Given the description of an element on the screen output the (x, y) to click on. 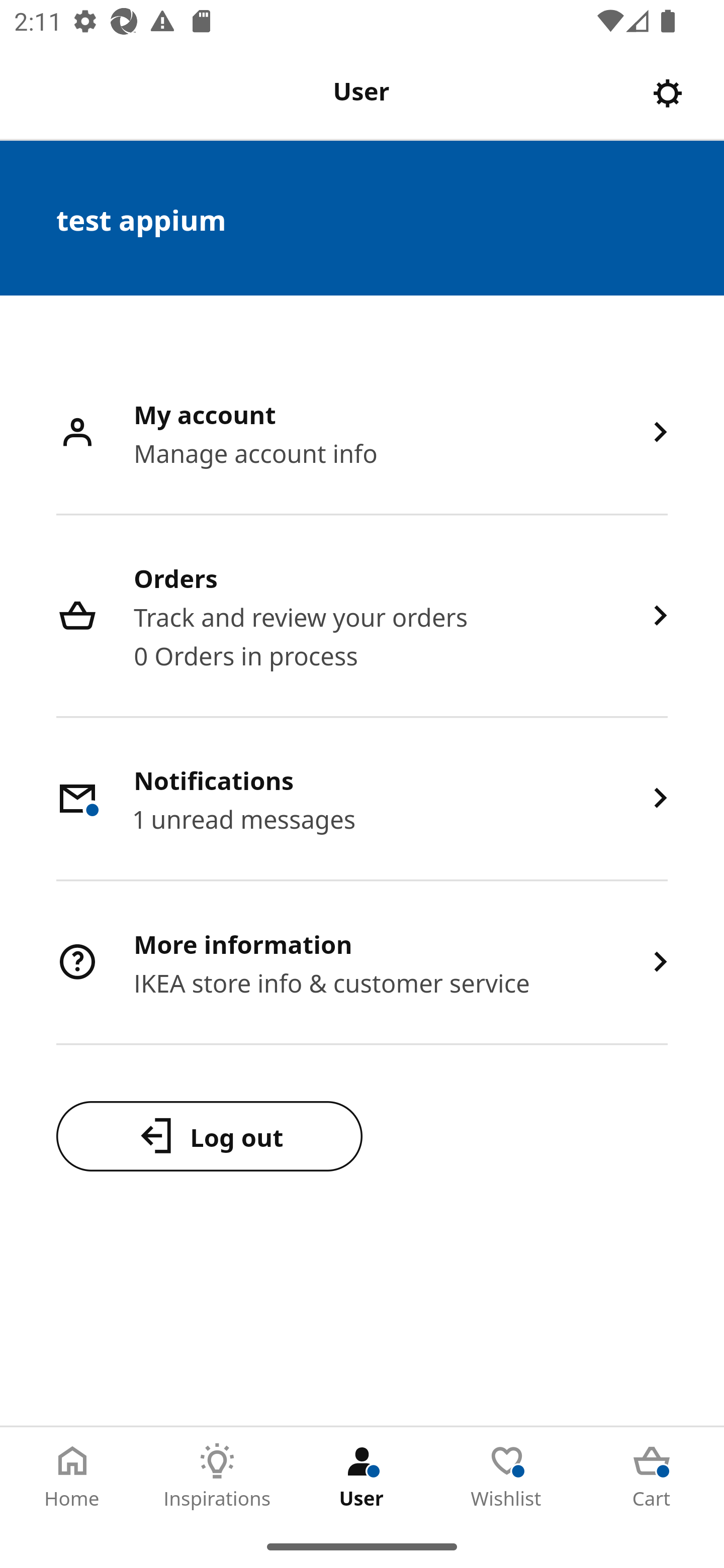
My account
Manage account info (361, 433)
Notifications
1 unread messages (361, 799)
Log out (209, 1135)
Home
Tab 1 of 5 (72, 1476)
Inspirations
Tab 2 of 5 (216, 1476)
User
Tab 3 of 5 (361, 1476)
Wishlist
Tab 4 of 5 (506, 1476)
Cart
Tab 5 of 5 (651, 1476)
